Given the description of an element on the screen output the (x, y) to click on. 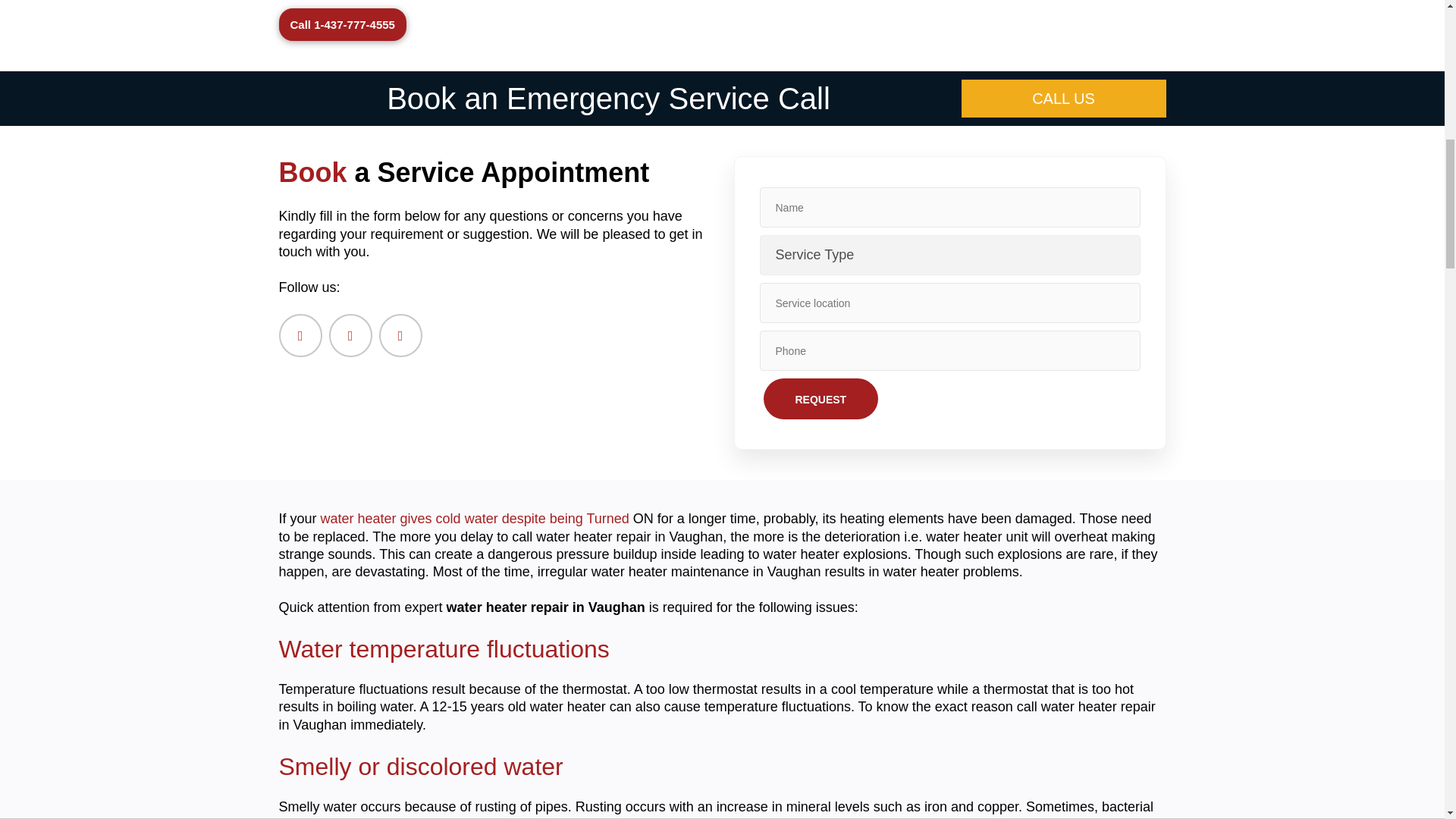
Request (819, 398)
facebook (300, 335)
instagram (400, 335)
twitter (350, 335)
